Given the description of an element on the screen output the (x, y) to click on. 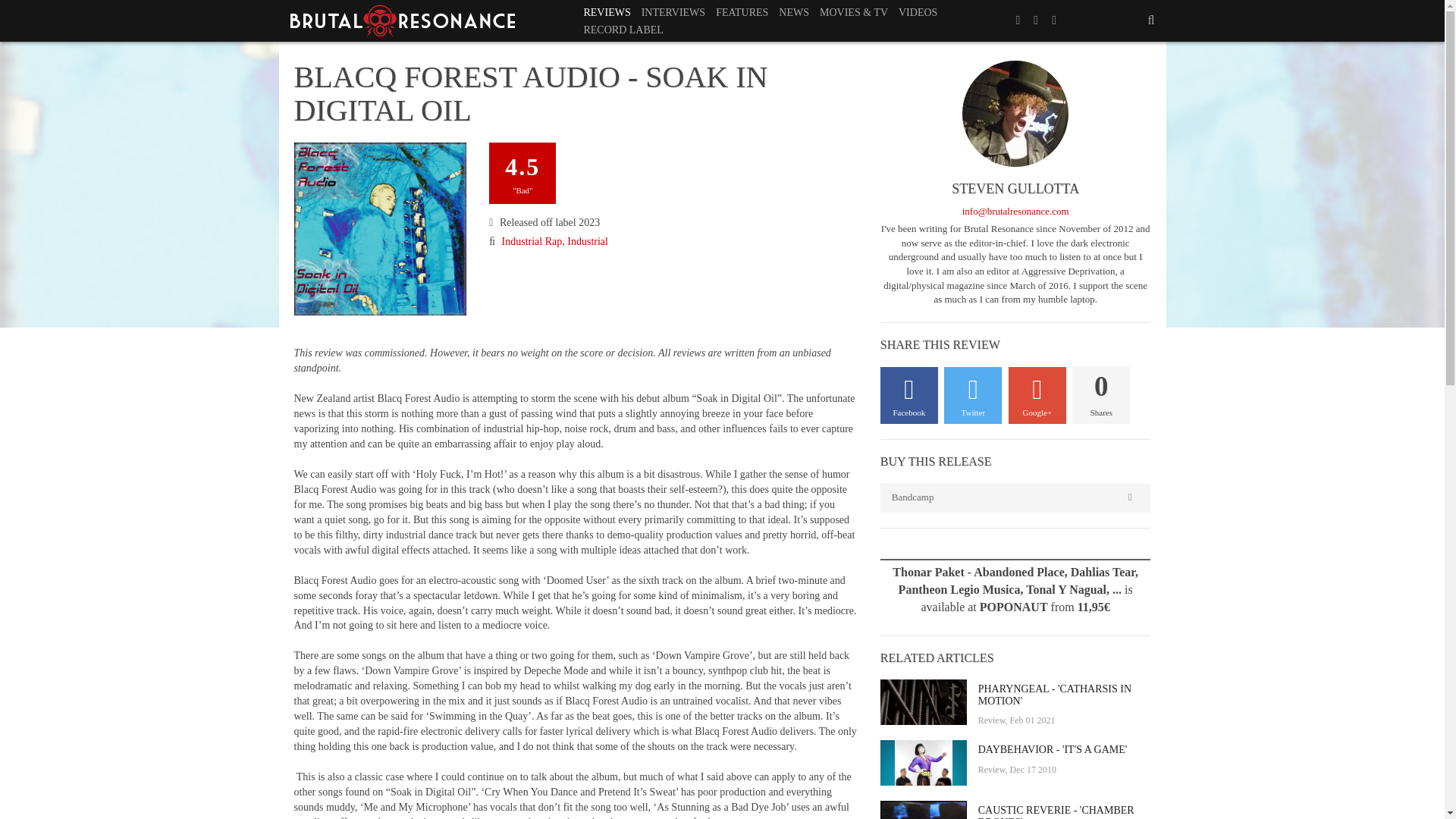
Share on Twitter (972, 395)
Share on Google Plus (1037, 395)
PHARYNGEAL - 'CATHARSIS IN MOTION' (1064, 694)
INTERVIEWS (673, 12)
RECORD LABEL (623, 29)
Industrial Rap (532, 241)
Share on Facebook (908, 395)
Bandcamp (1015, 497)
FEATURES (741, 12)
NEWS (793, 12)
REVIEWS (606, 12)
Industrial (587, 241)
VIDEOS (917, 12)
